Given the description of an element on the screen output the (x, y) to click on. 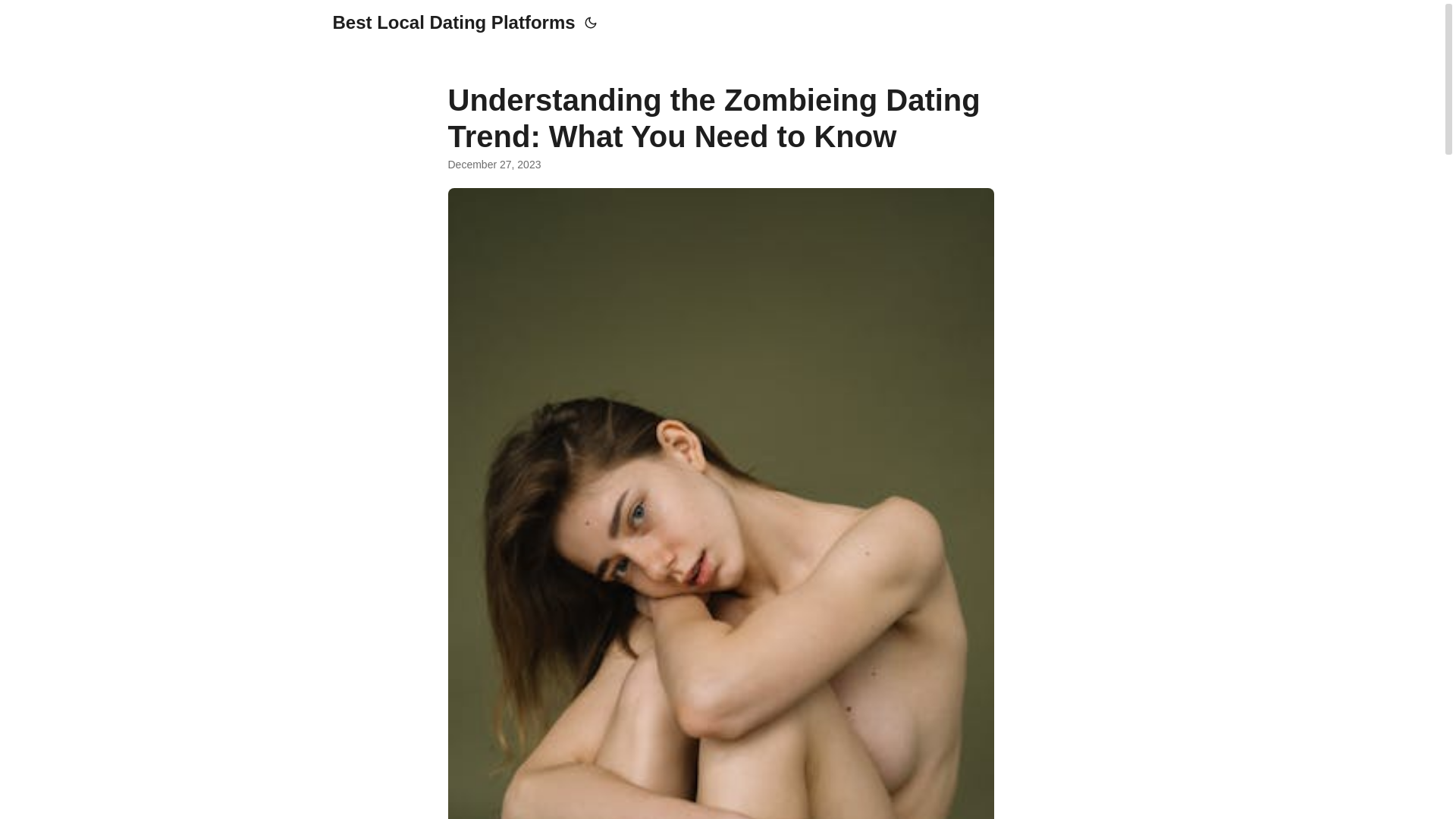
Best Local Dating Platforms (453, 22)
